Given the description of an element on the screen output the (x, y) to click on. 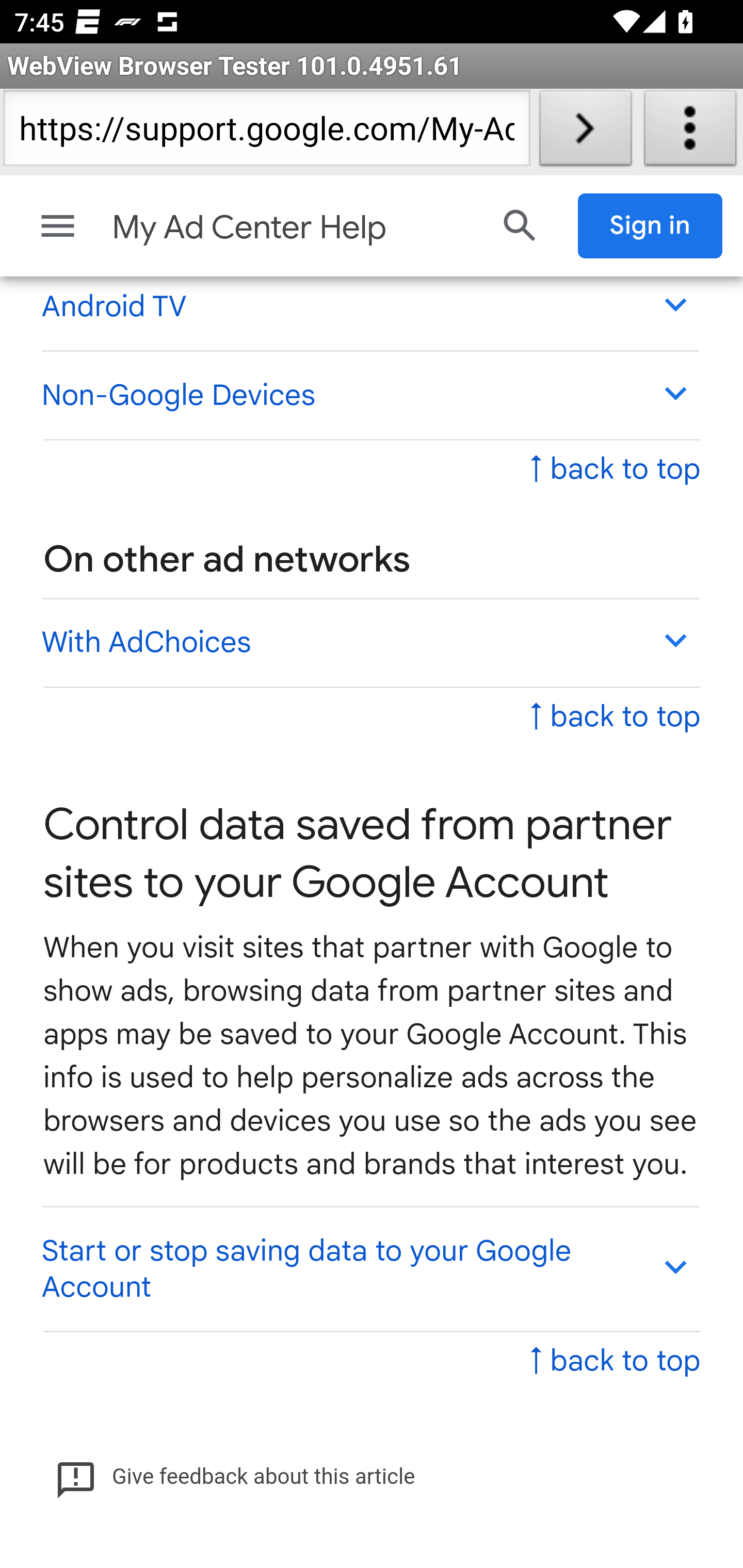
Load URL (585, 132)
About WebView (690, 132)
Main menu (58, 226)
My Ad Center Help (292, 227)
Search Help Center (519, 226)
Sign in (650, 226)
Android TV (369, 306)
Non-Google Devices (369, 394)
↑ back to top (615, 470)
With AdChoices (369, 641)
↑ back to top (615, 716)
Start or stop saving data to your Google Account (369, 1268)
↑ back to top (615, 1362)
Give feedback about this article (235, 1477)
